Given the description of an element on the screen output the (x, y) to click on. 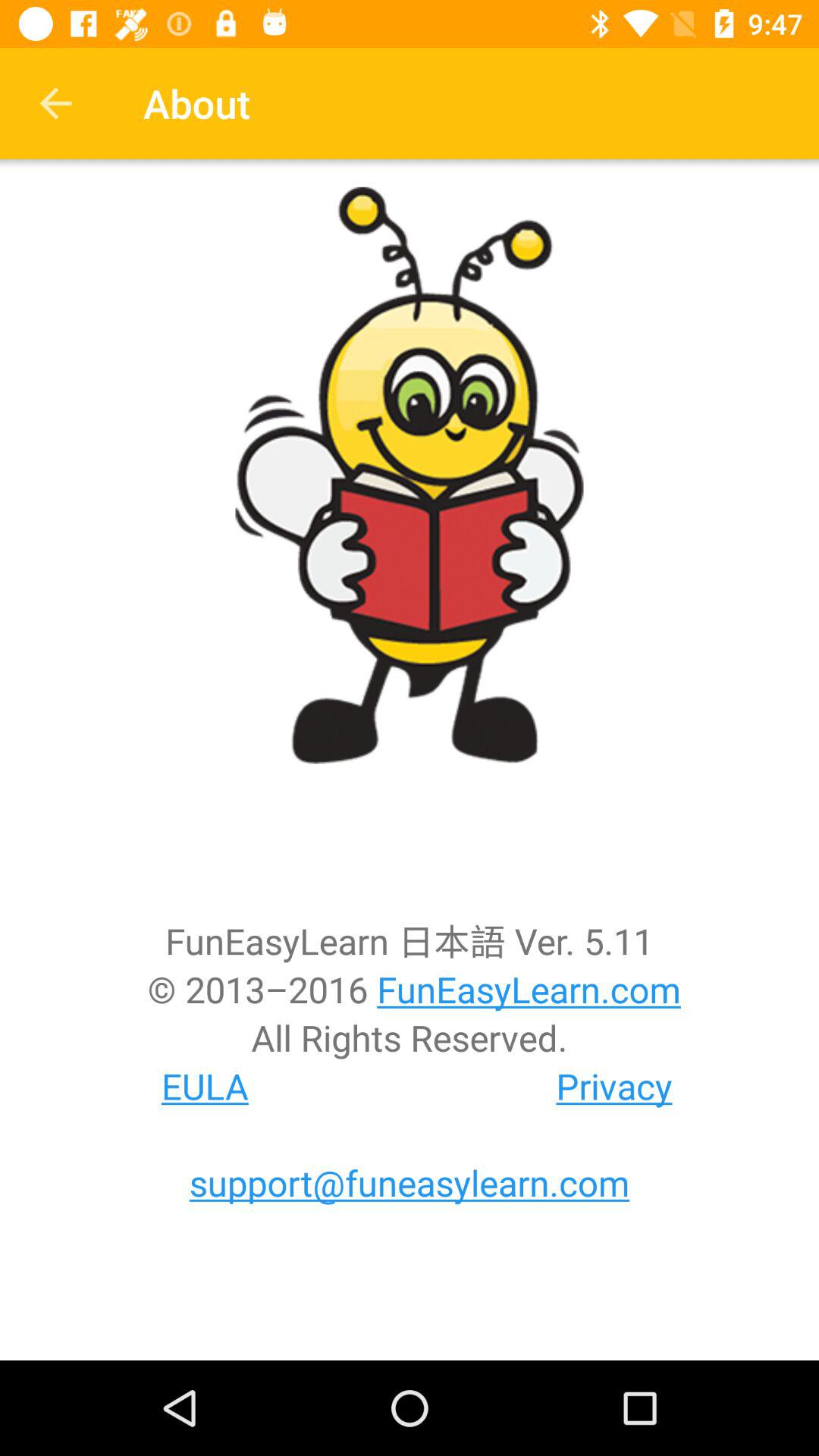
choose the icon to the right of eula (614, 1085)
